Given the description of an element on the screen output the (x, y) to click on. 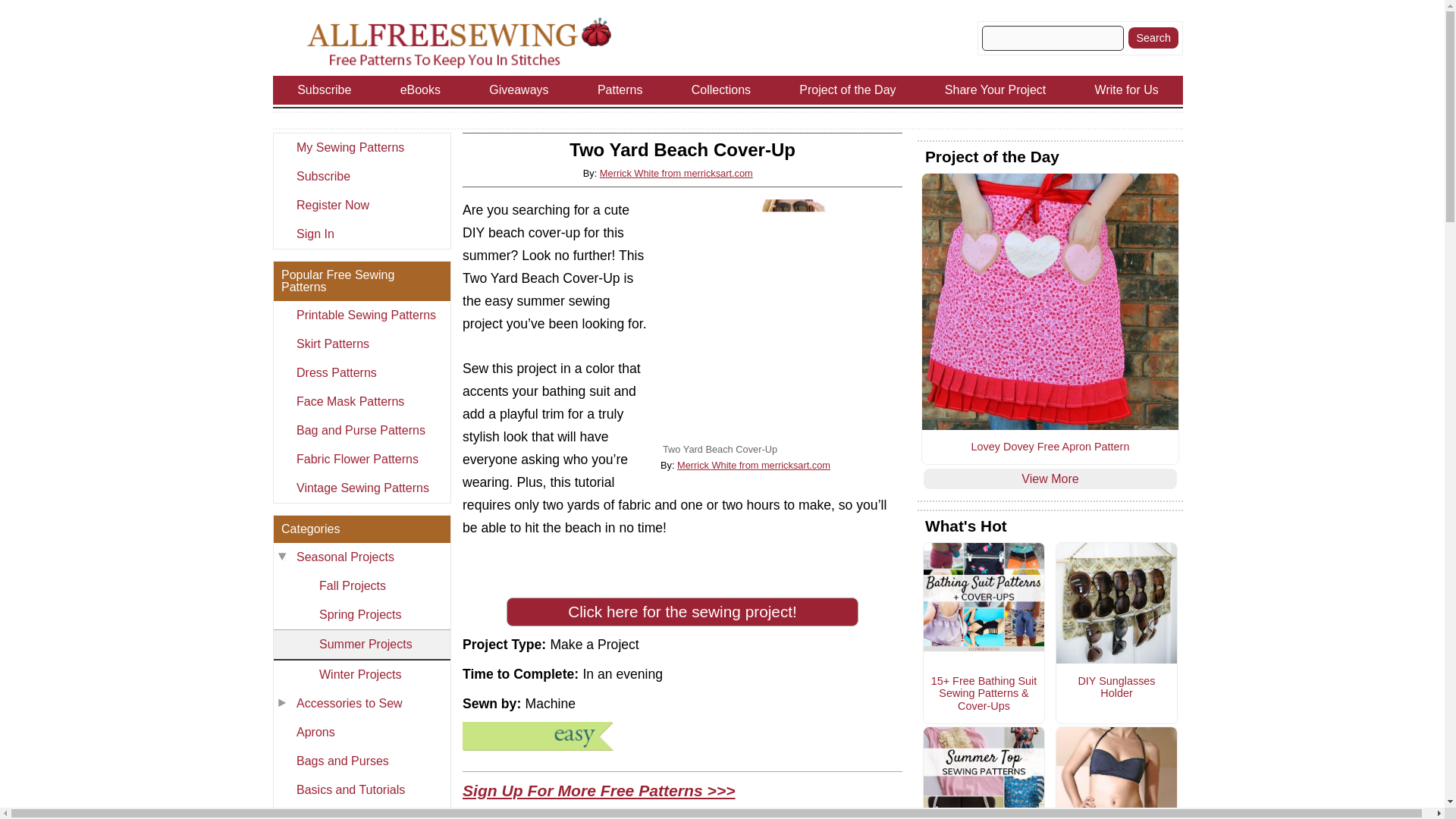
Subscribe (361, 176)
Two Yard Beach Cover-Up (781, 320)
Search (1152, 37)
Register Now (361, 205)
Sign In (361, 234)
My Sewing Patterns (361, 147)
